Given the description of an element on the screen output the (x, y) to click on. 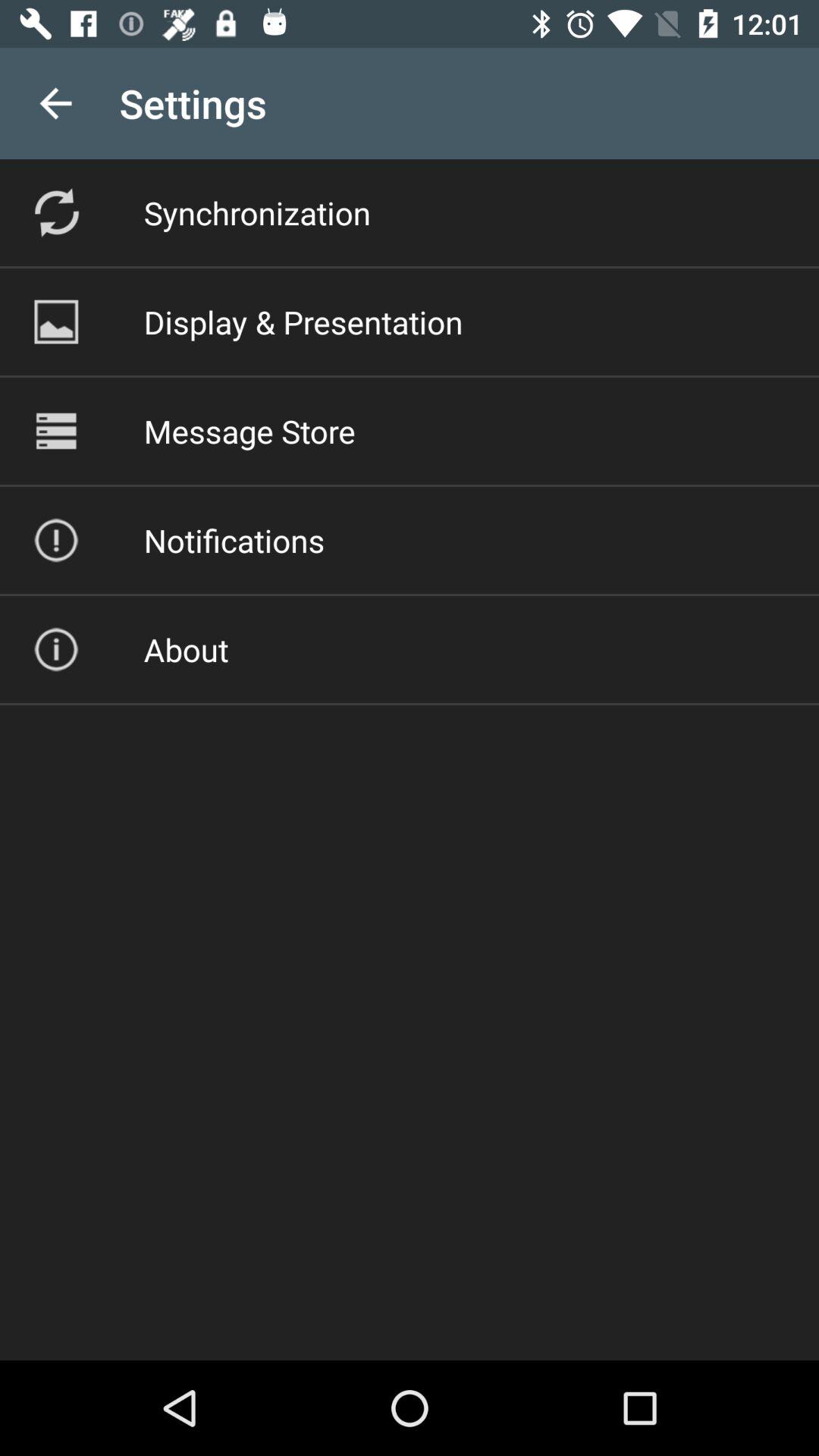
select app below the settings item (256, 212)
